Given the description of an element on the screen output the (x, y) to click on. 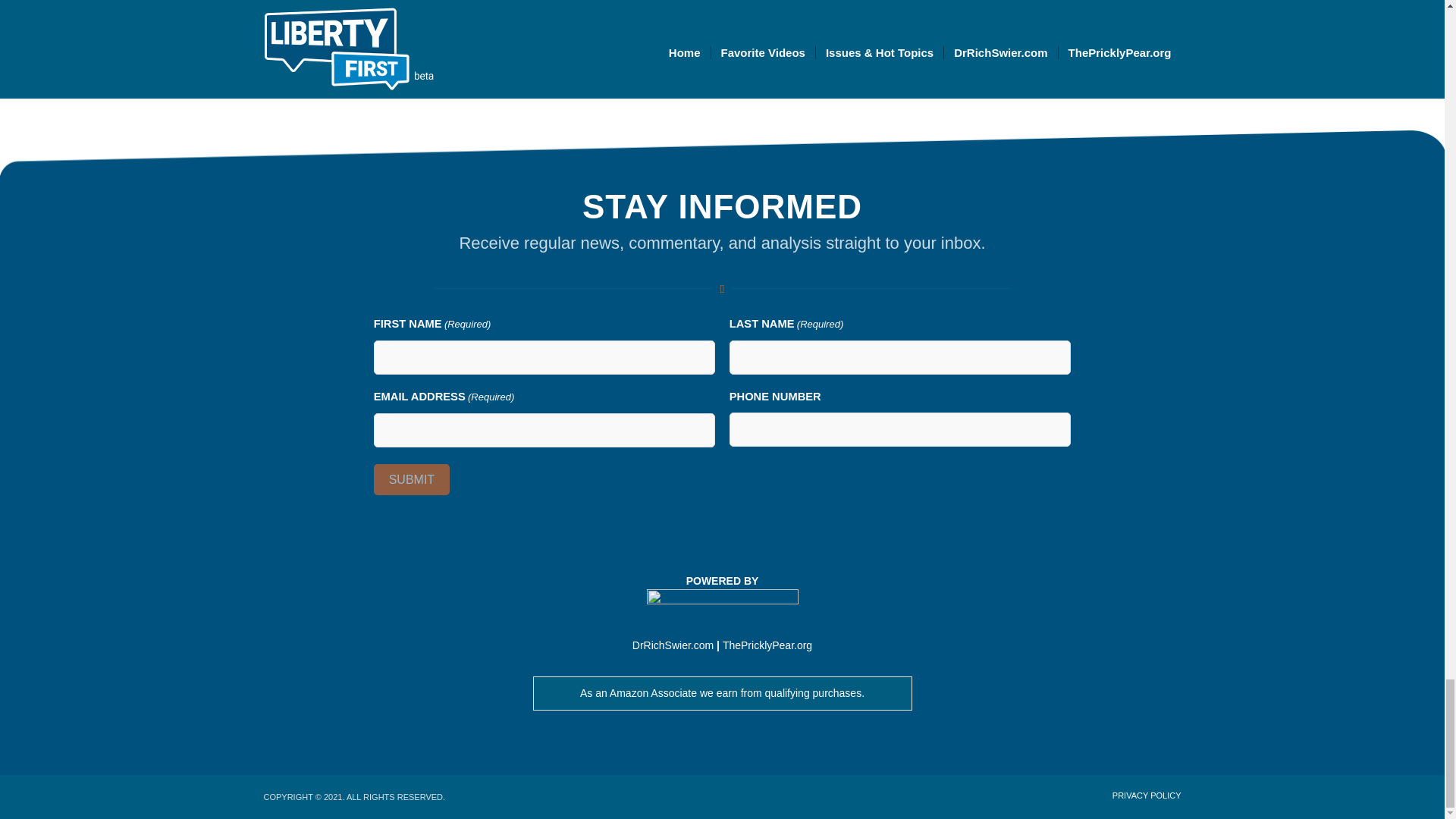
SUBMIT (411, 479)
